Given the description of an element on the screen output the (x, y) to click on. 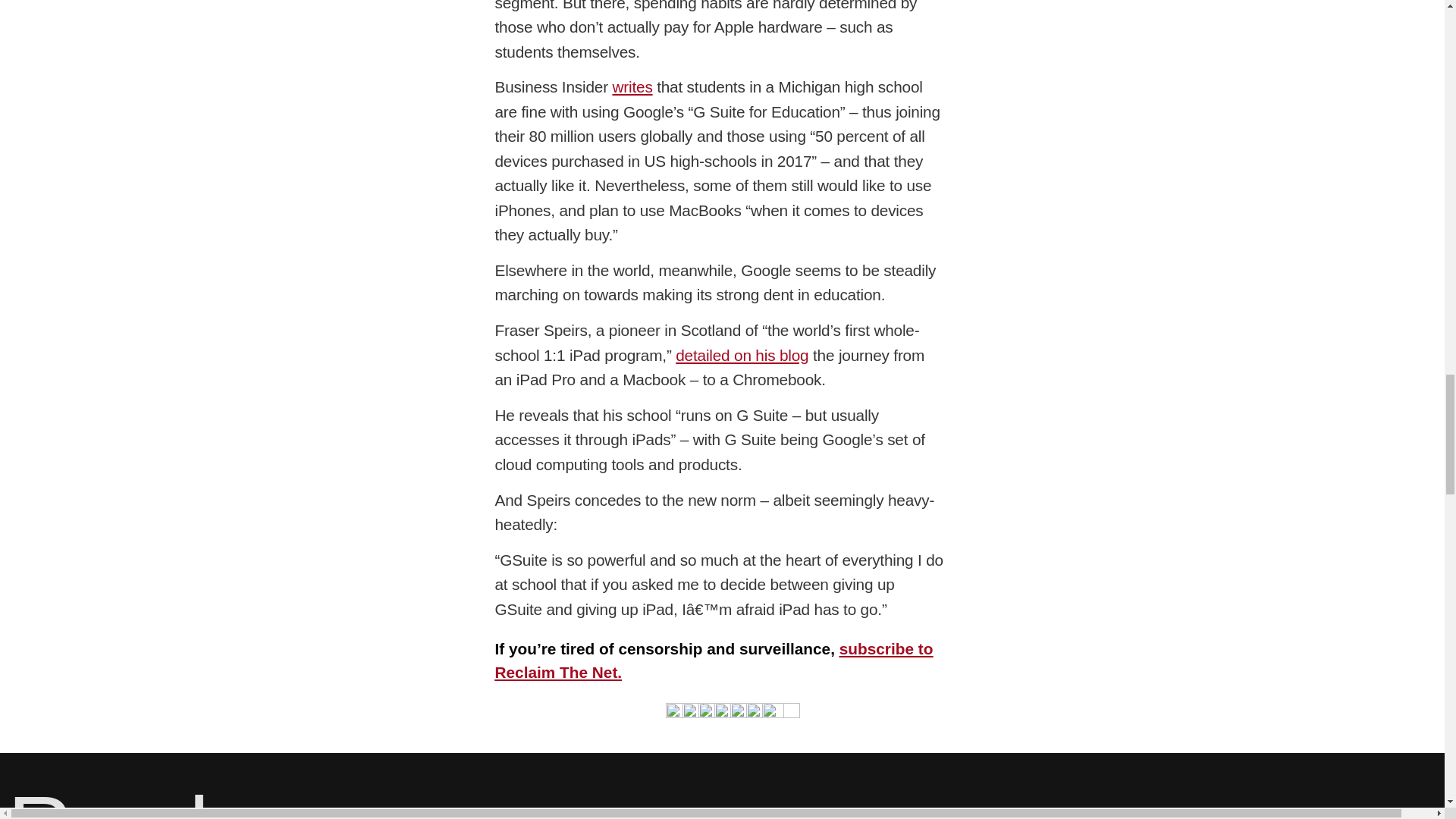
subscribe to Reclaim The Net. (714, 659)
writes (631, 86)
detailed on his blog (741, 354)
